Given the description of an element on the screen output the (x, y) to click on. 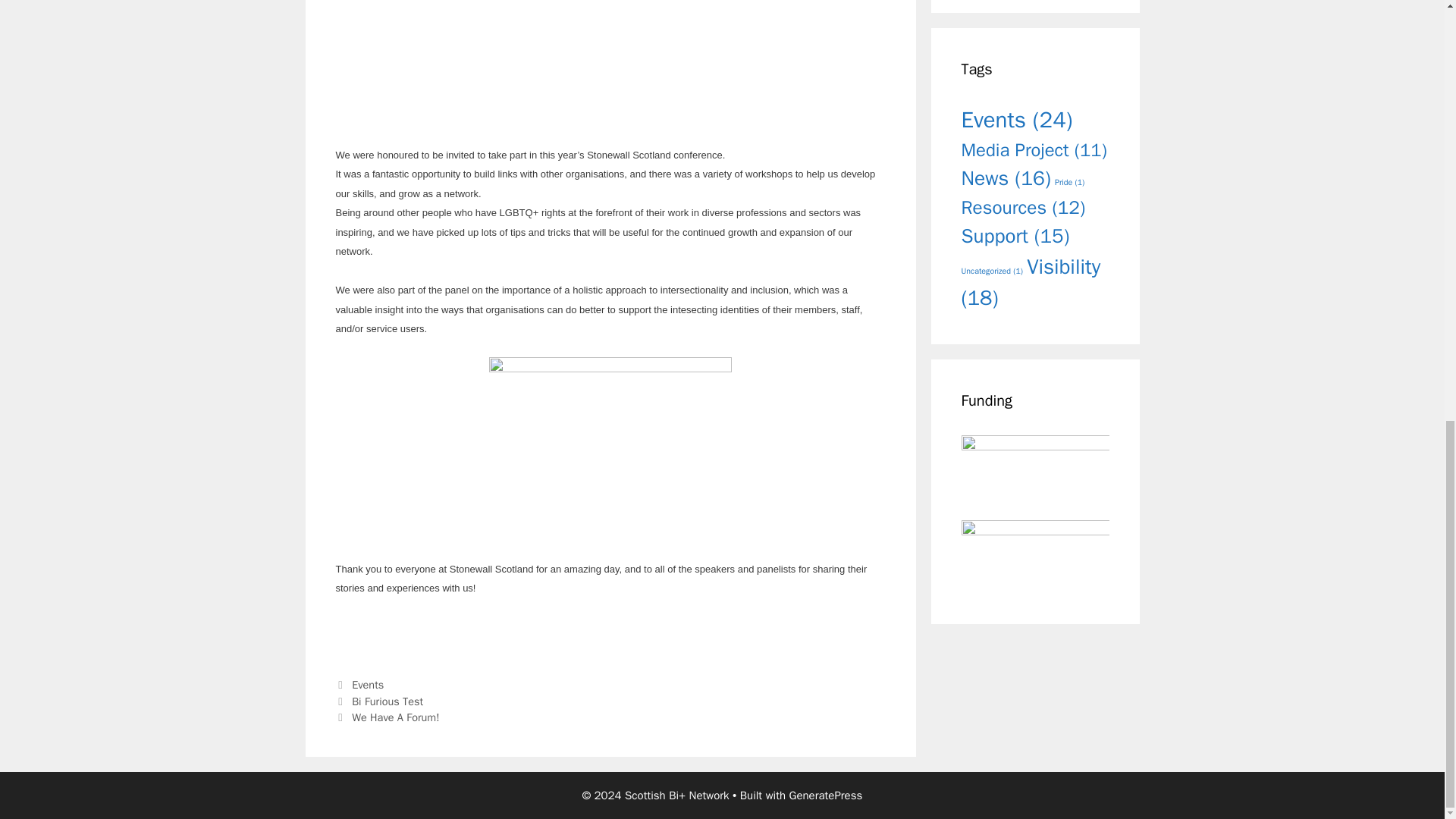
Next (386, 716)
We Have A Forum! (395, 716)
Events (368, 684)
GeneratePress (826, 795)
Bi Furious Test (387, 701)
Previous (378, 701)
